Given the description of an element on the screen output the (x, y) to click on. 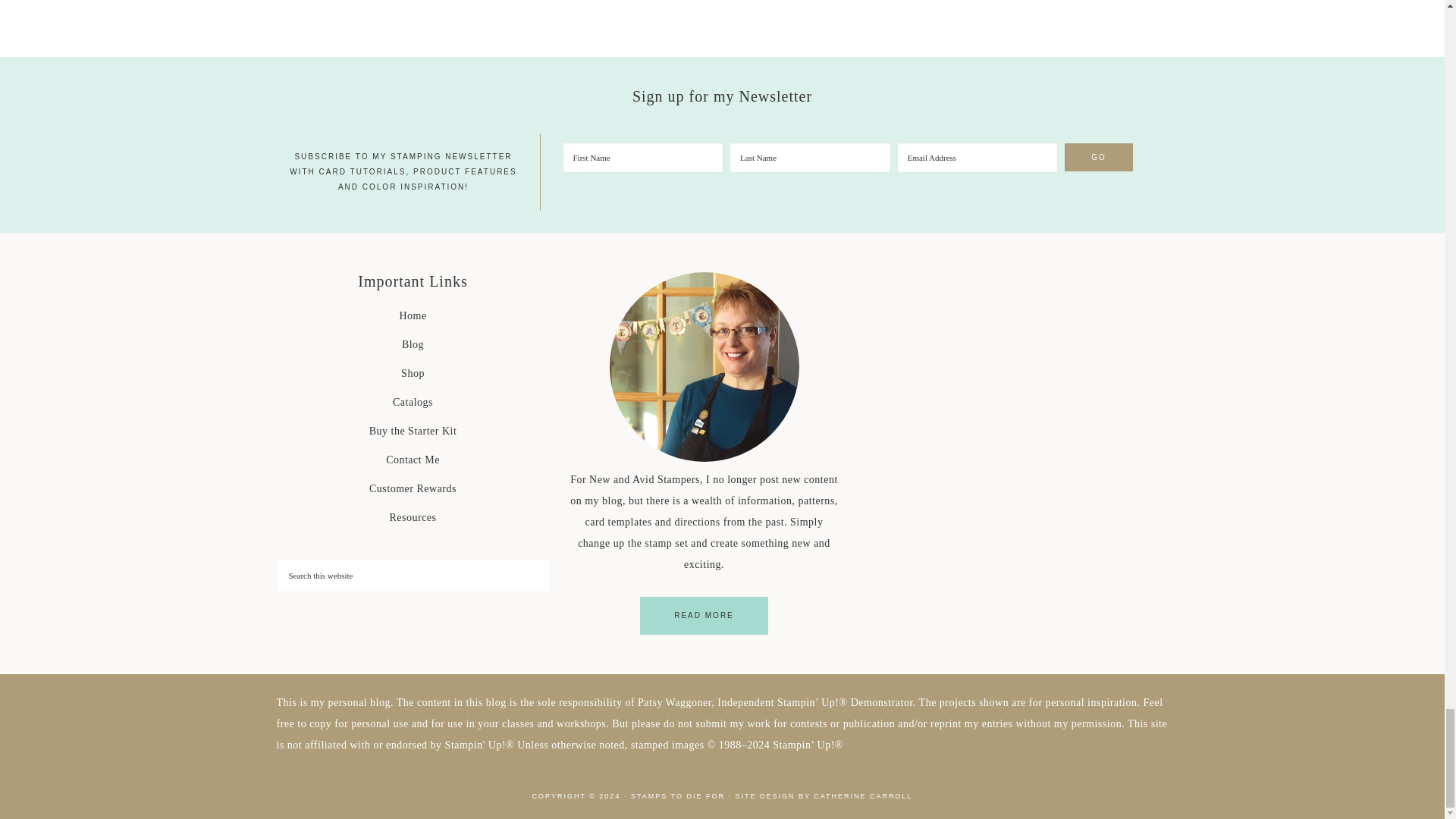
Go (1098, 157)
